Given the description of an element on the screen output the (x, y) to click on. 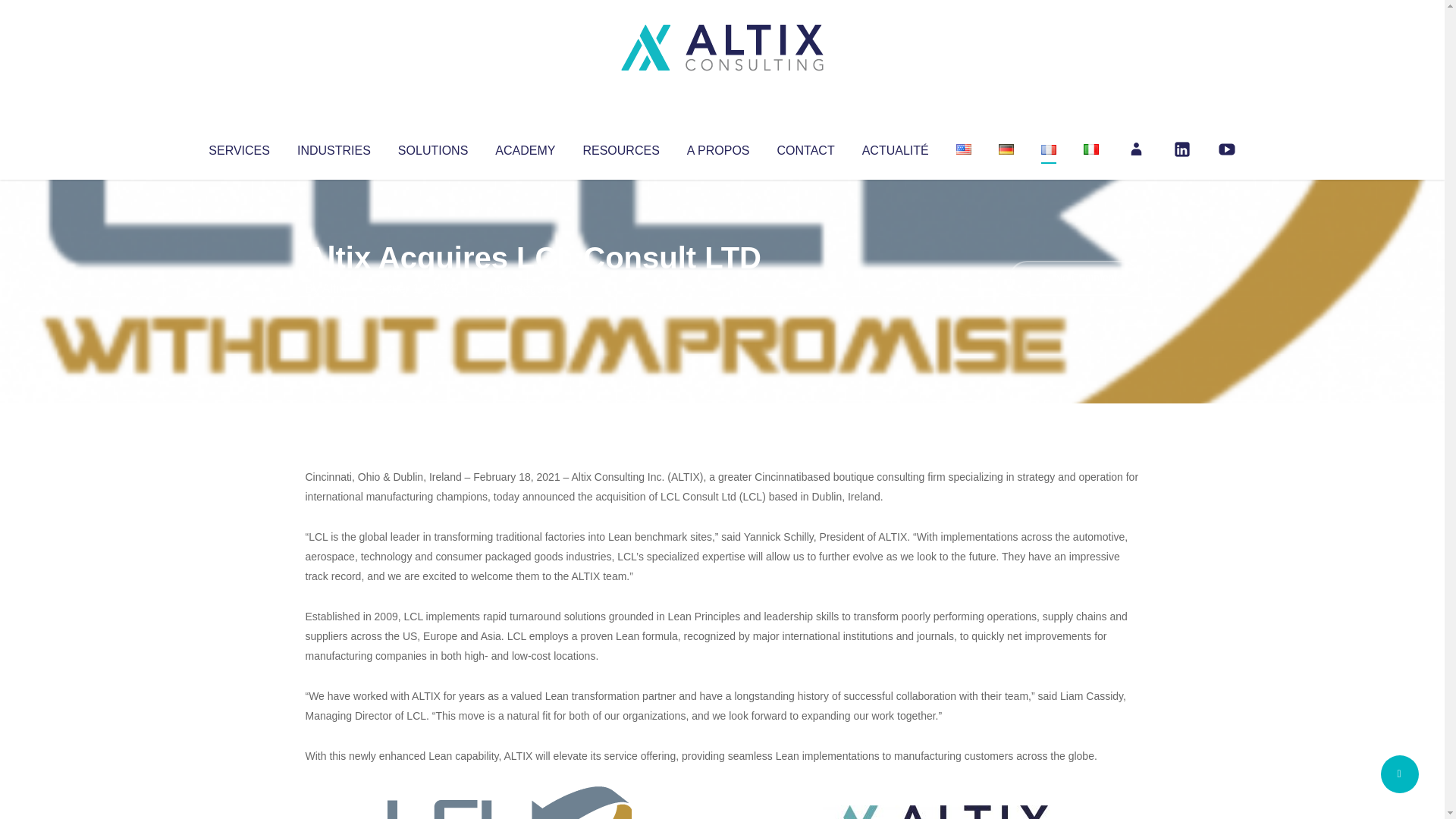
INDUSTRIES (334, 146)
Articles par Altix (333, 287)
SOLUTIONS (432, 146)
Uncategorized (530, 287)
RESOURCES (620, 146)
Altix (333, 287)
SERVICES (238, 146)
No Comments (1073, 278)
A PROPOS (718, 146)
ACADEMY (524, 146)
